Given the description of an element on the screen output the (x, y) to click on. 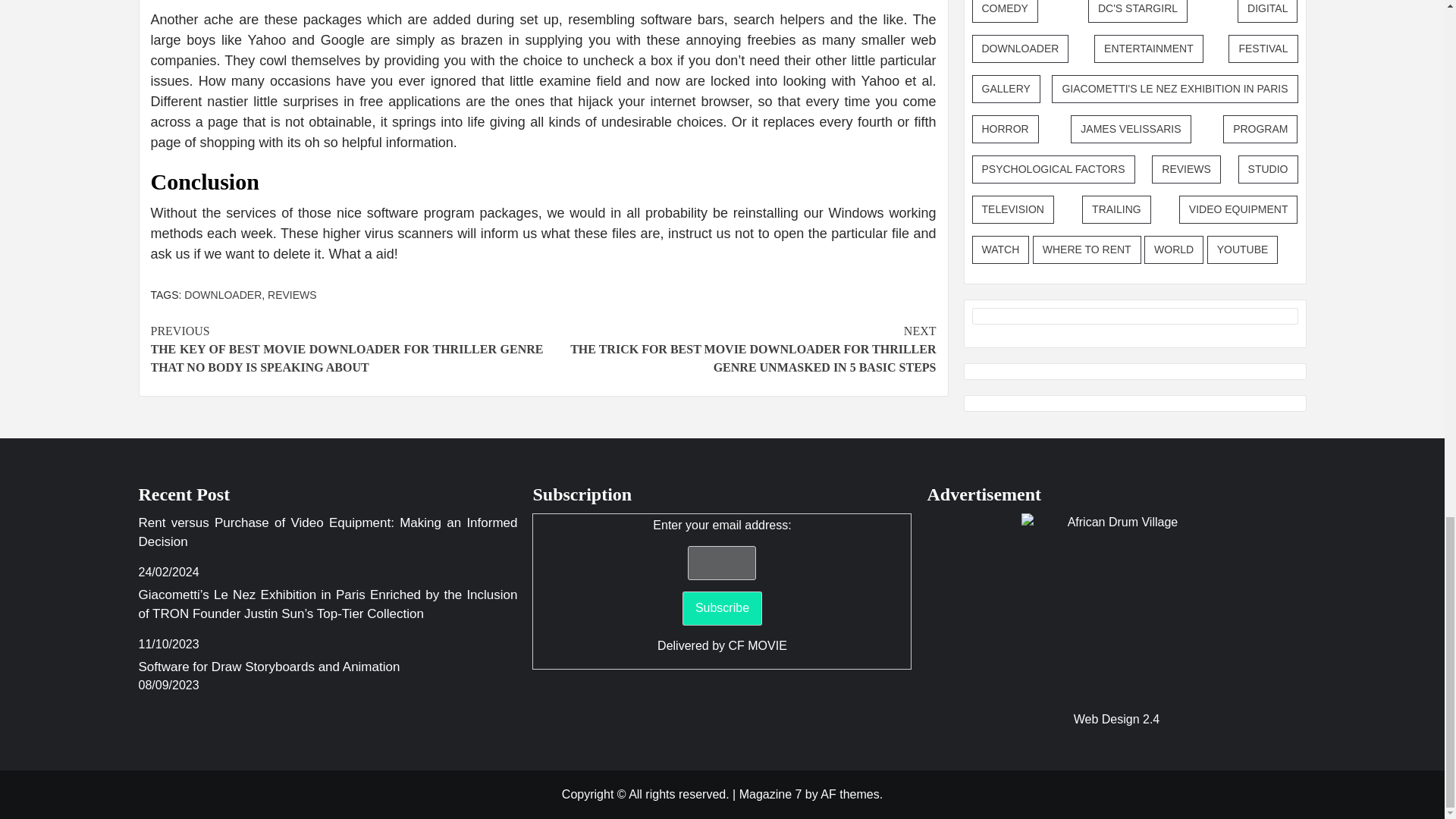
Subscribe (721, 608)
African Drum Village (1116, 607)
REVIEWS (292, 295)
DOWNLOADER (223, 295)
